Given the description of an element on the screen output the (x, y) to click on. 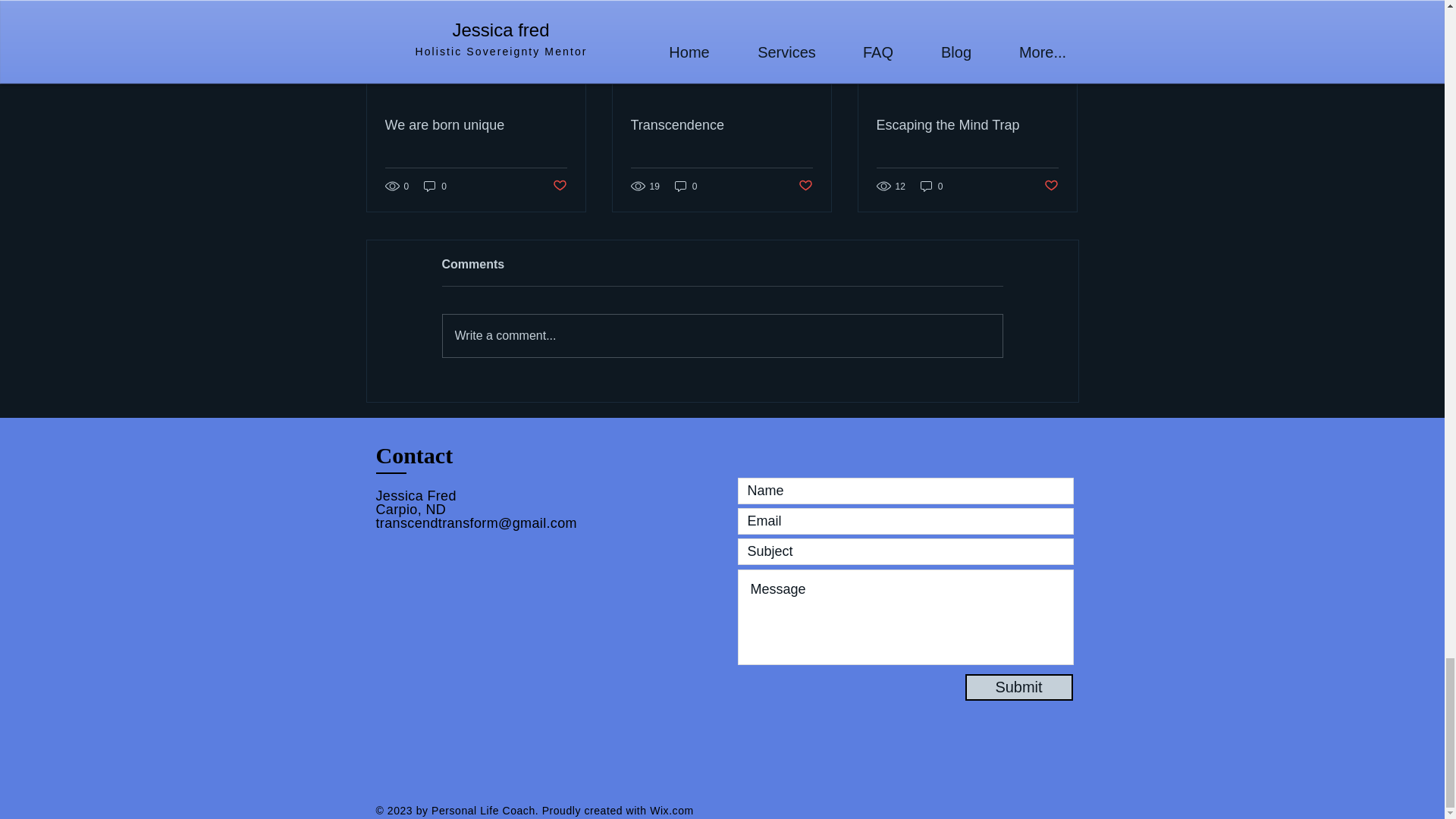
Post not marked as liked (804, 186)
Post not marked as liked (1050, 186)
0 (931, 186)
Post not marked as liked (558, 186)
Write a comment... (722, 335)
0 (685, 186)
We are born unique (476, 125)
0 (435, 186)
Wix.com (671, 810)
Transcendence (721, 125)
Escaping the Mind Trap (967, 125)
Submit (1017, 687)
